Given the description of an element on the screen output the (x, y) to click on. 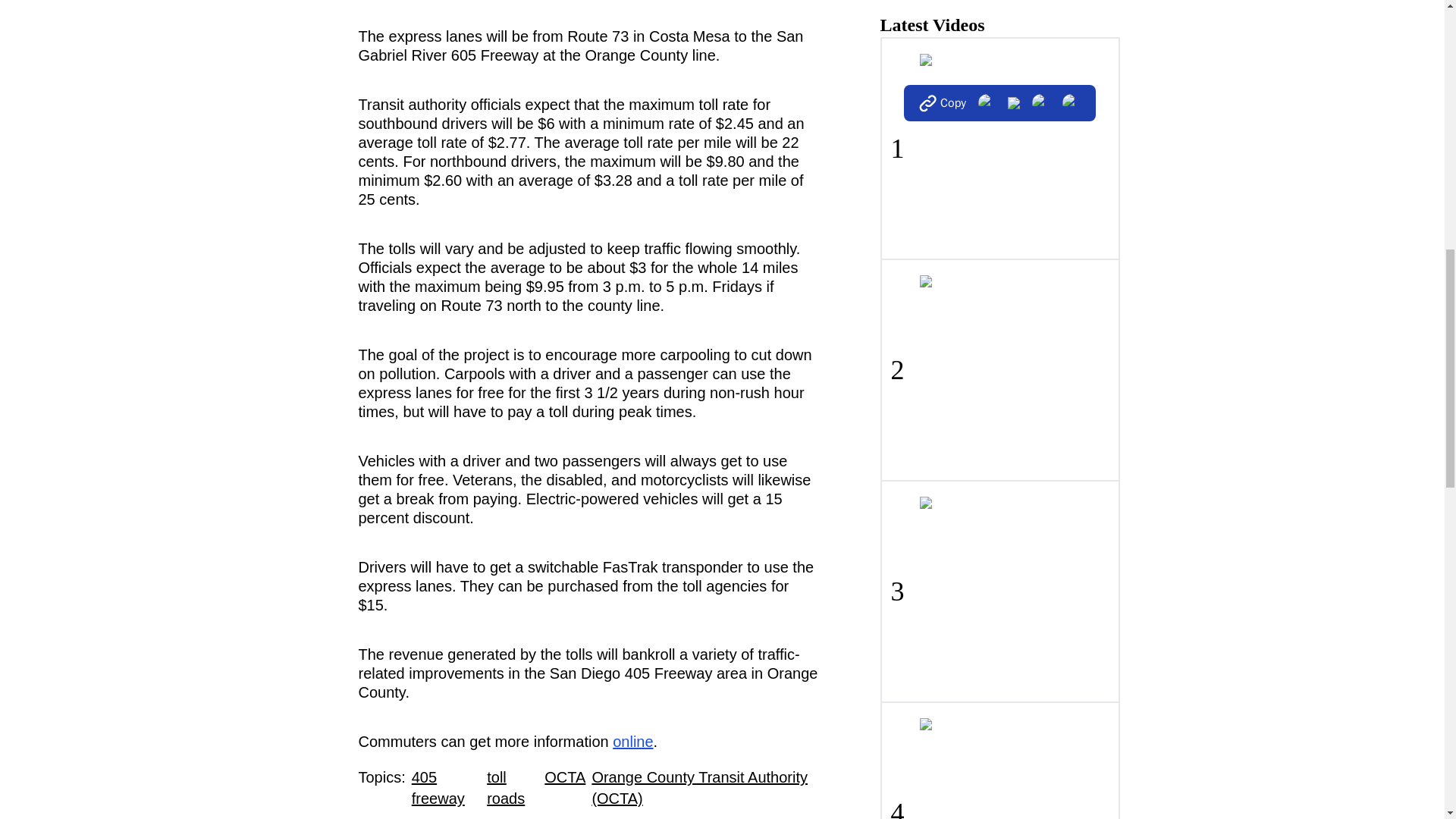
toll roads (512, 787)
online (632, 741)
1 (999, 148)
OCTA (564, 787)
3 (999, 590)
405 freeway (446, 787)
4 (999, 760)
2 (999, 368)
